Given the description of an element on the screen output the (x, y) to click on. 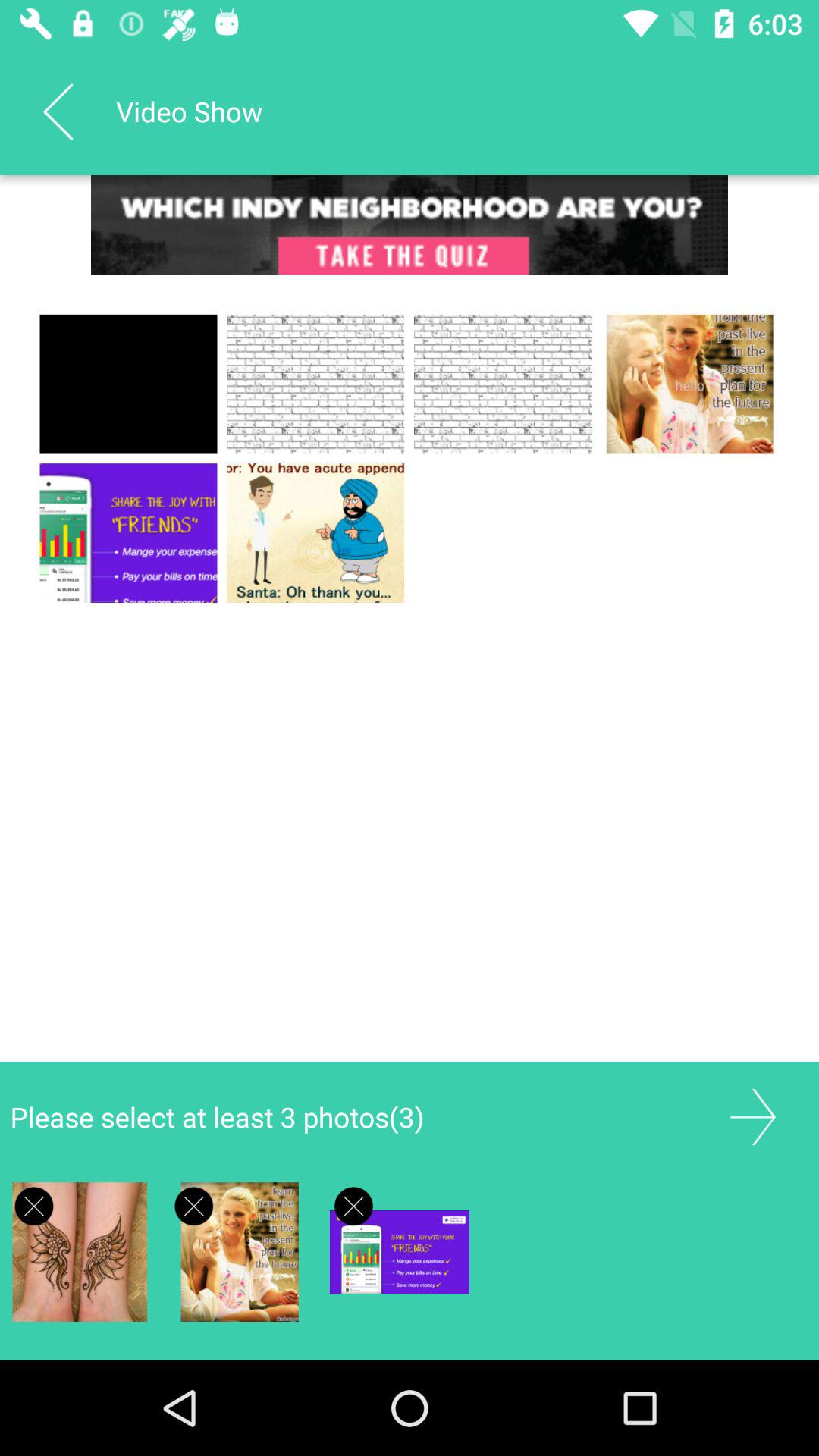
go to advertisement (752, 1116)
